Given the description of an element on the screen output the (x, y) to click on. 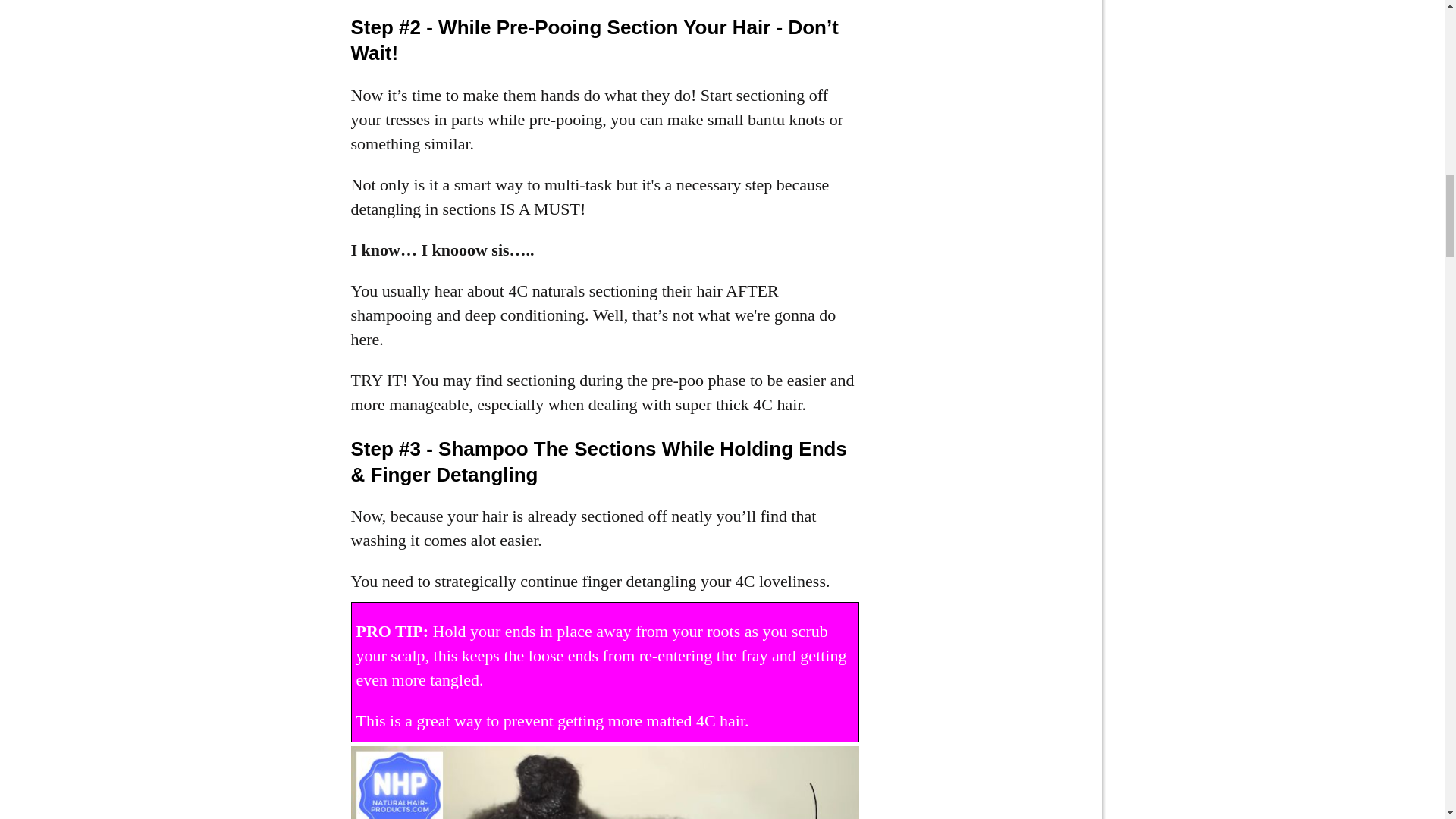
how to detangle 4C hair without breakage good (604, 782)
